Given the description of an element on the screen output the (x, y) to click on. 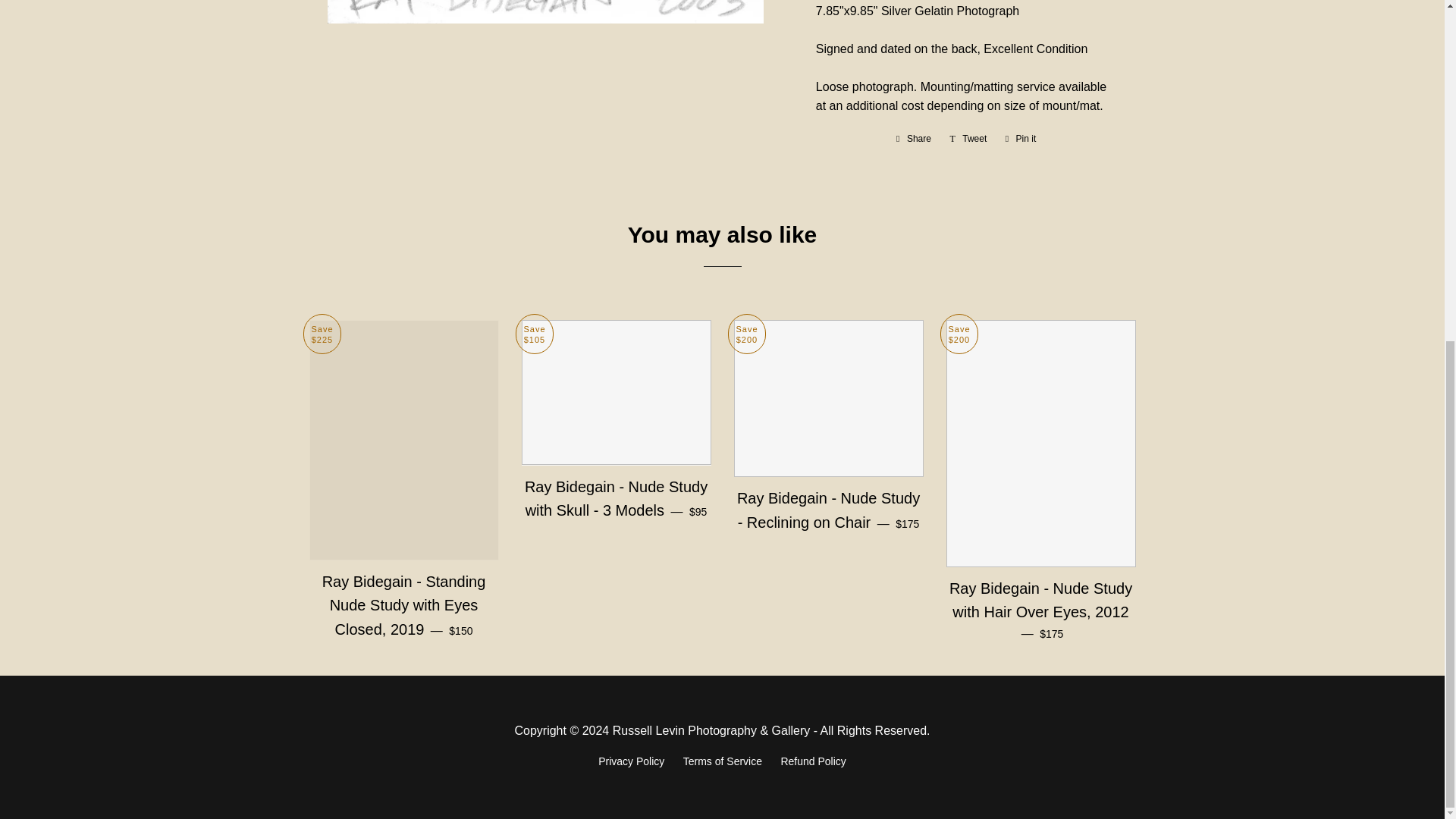
Pin on Pinterest (1020, 138)
Privacy Policy (630, 761)
Share on Facebook (913, 138)
Terms of Service (721, 761)
Refund Policy (913, 138)
Tweet on Twitter (812, 761)
